Given the description of an element on the screen output the (x, y) to click on. 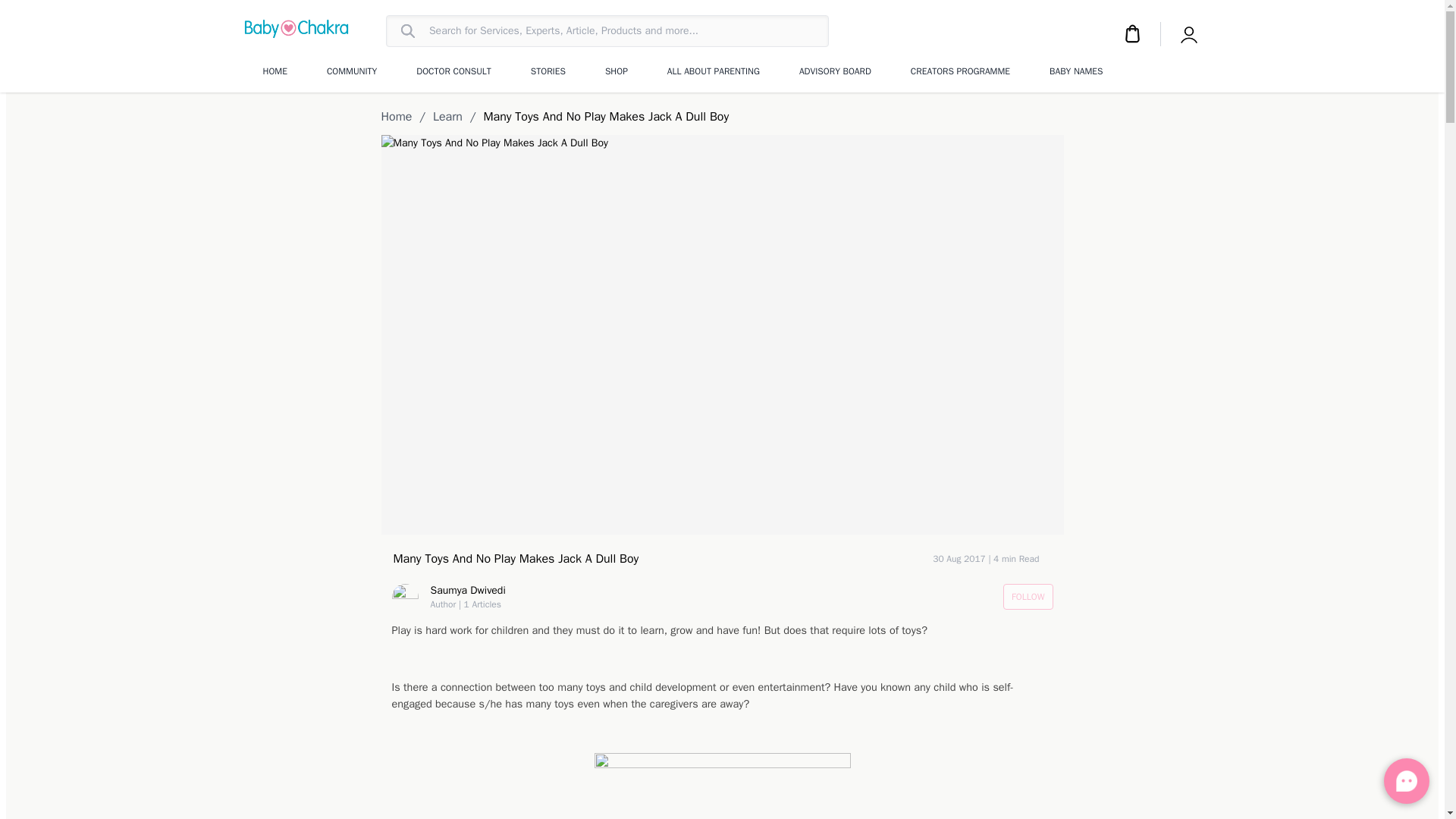
ALL ABOUT PARENTING (713, 71)
ADVISORY BOARD (834, 71)
STORIES (548, 71)
DOCTOR CONSULT (453, 71)
CREATORS PROGRAMME (959, 71)
COMMUNITY (351, 71)
